Given the description of an element on the screen output the (x, y) to click on. 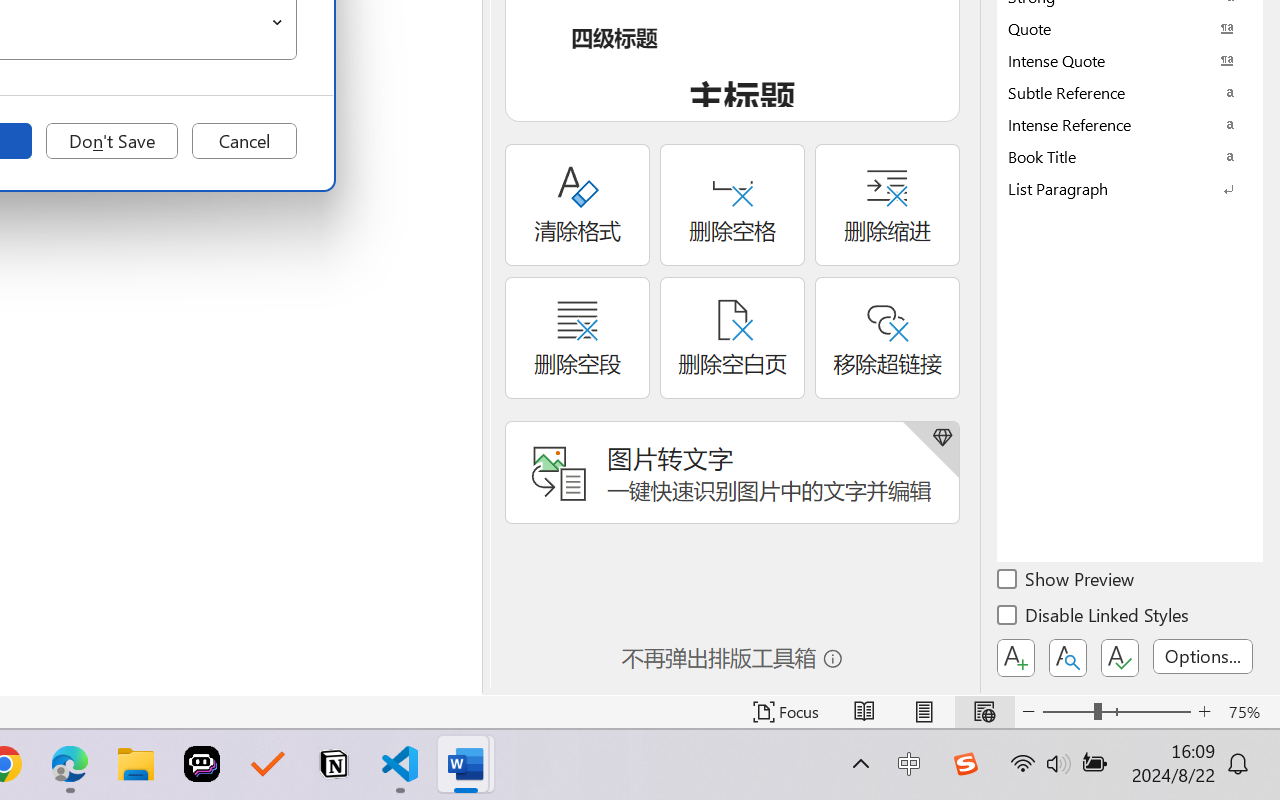
Show Preview (1067, 582)
Zoom (1116, 712)
Cancel (244, 141)
Book Title (1130, 156)
Notion (333, 764)
Options... (1203, 656)
